Given the description of an element on the screen output the (x, y) to click on. 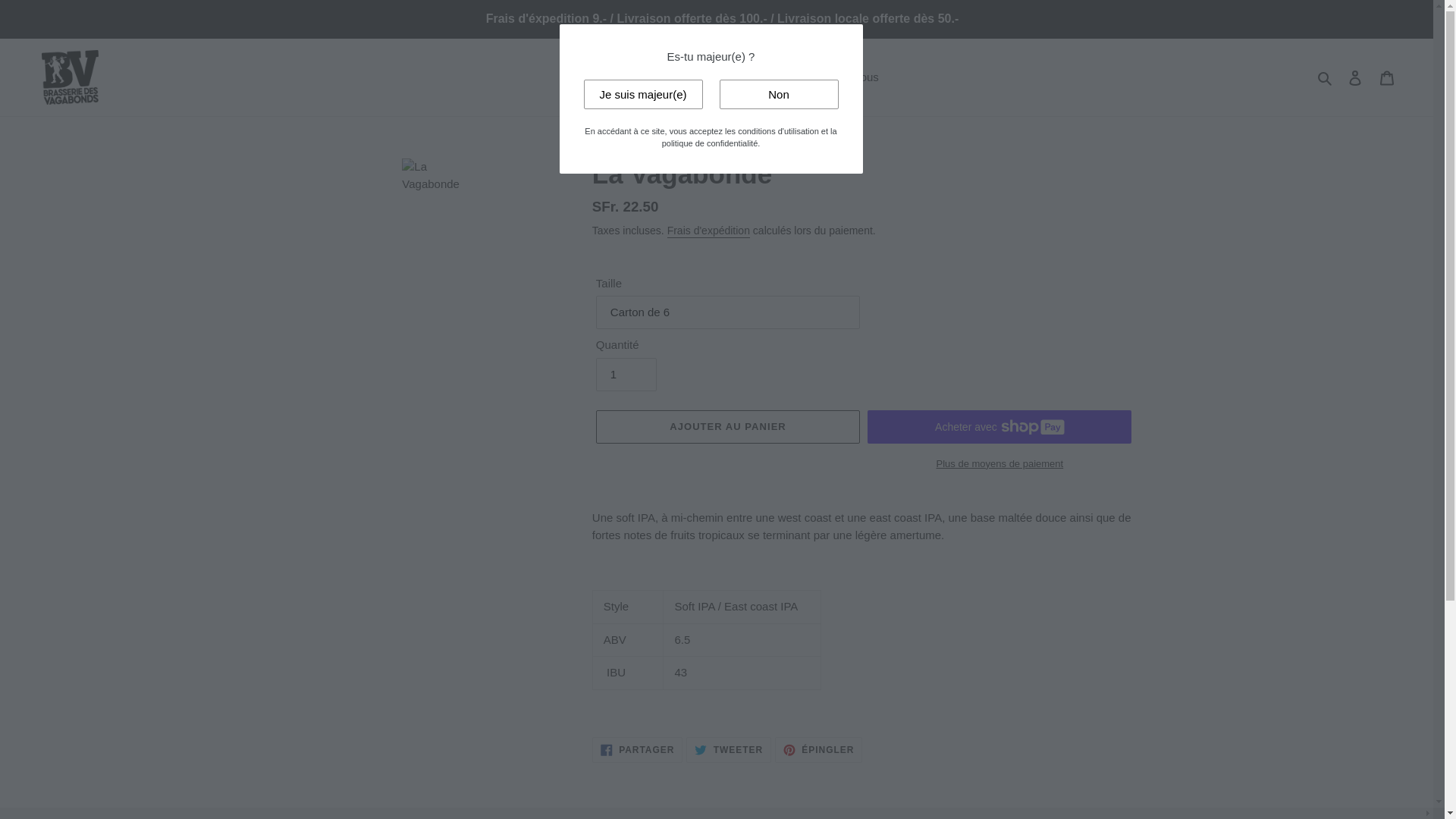
Non Element type: text (777, 94)
TWEETER
TWEETER SUR TWITTER Element type: text (728, 749)
Contactez-nous Element type: text (838, 77)
Plus de moyens de paiement Element type: text (999, 463)
Notre brasserie Element type: text (659, 77)
Rechercher Element type: text (1325, 77)
Nos produits Element type: text (748, 77)
Panier Element type: text (1386, 77)
AJOUTER AU PANIER Element type: text (727, 426)
Je suis majeur(e) Element type: text (642, 94)
Accueil Element type: text (583, 77)
PARTAGER
PARTAGER SUR FACEBOOK Element type: text (637, 749)
Se connecter Element type: text (1355, 77)
